Given the description of an element on the screen output the (x, y) to click on. 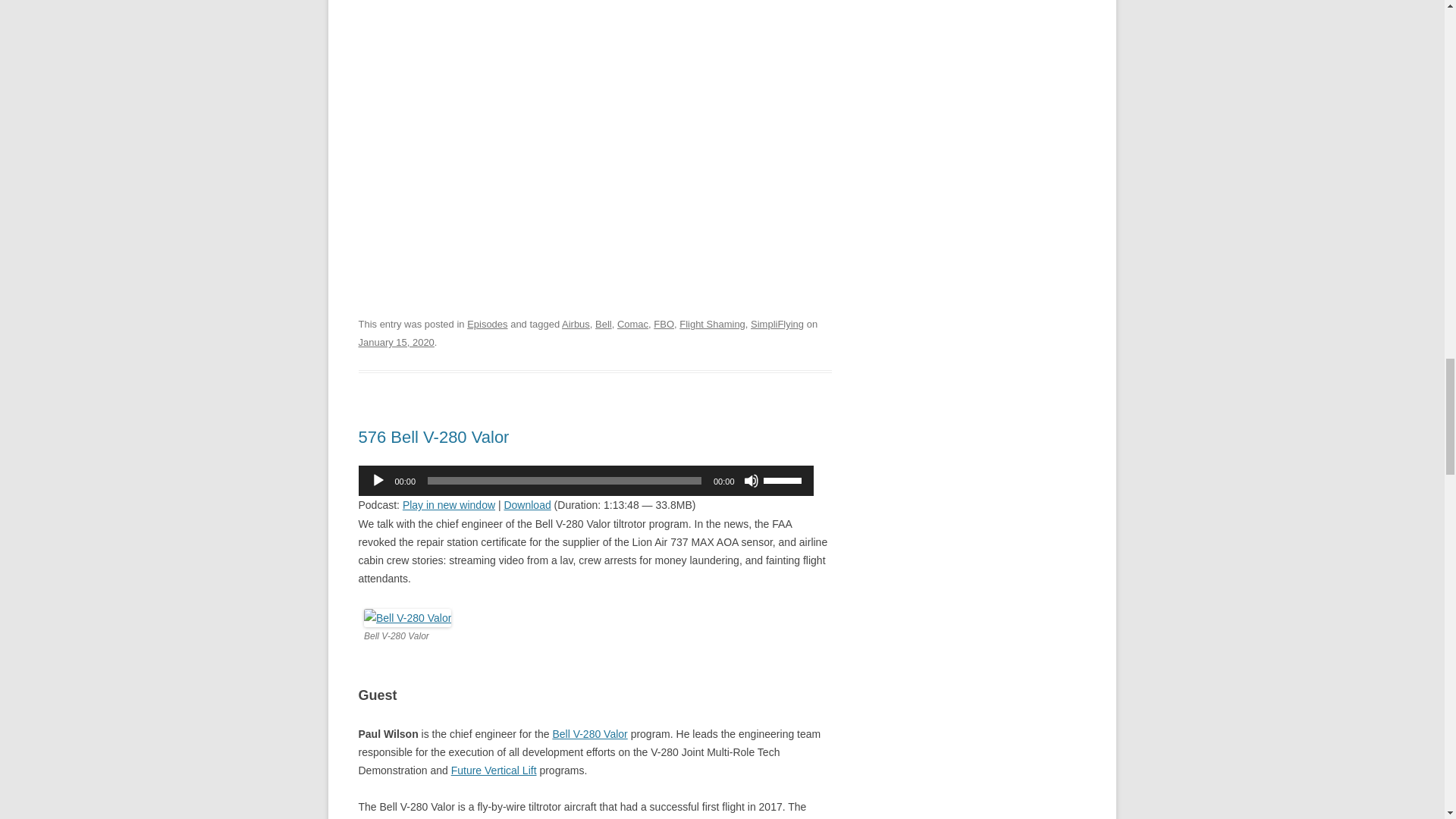
Download (526, 504)
Play in new window (449, 504)
Flight Shaming (712, 324)
Comac (632, 324)
January 15, 2020 (395, 342)
Airbus (575, 324)
FBO (663, 324)
Episodes (486, 324)
Bell (603, 324)
Henry Mancini - Baby Elephant Walk (594, 118)
Play (377, 480)
7:53 am (395, 342)
Mute (750, 480)
SimpliFlying (777, 324)
